Given the description of an element on the screen output the (x, y) to click on. 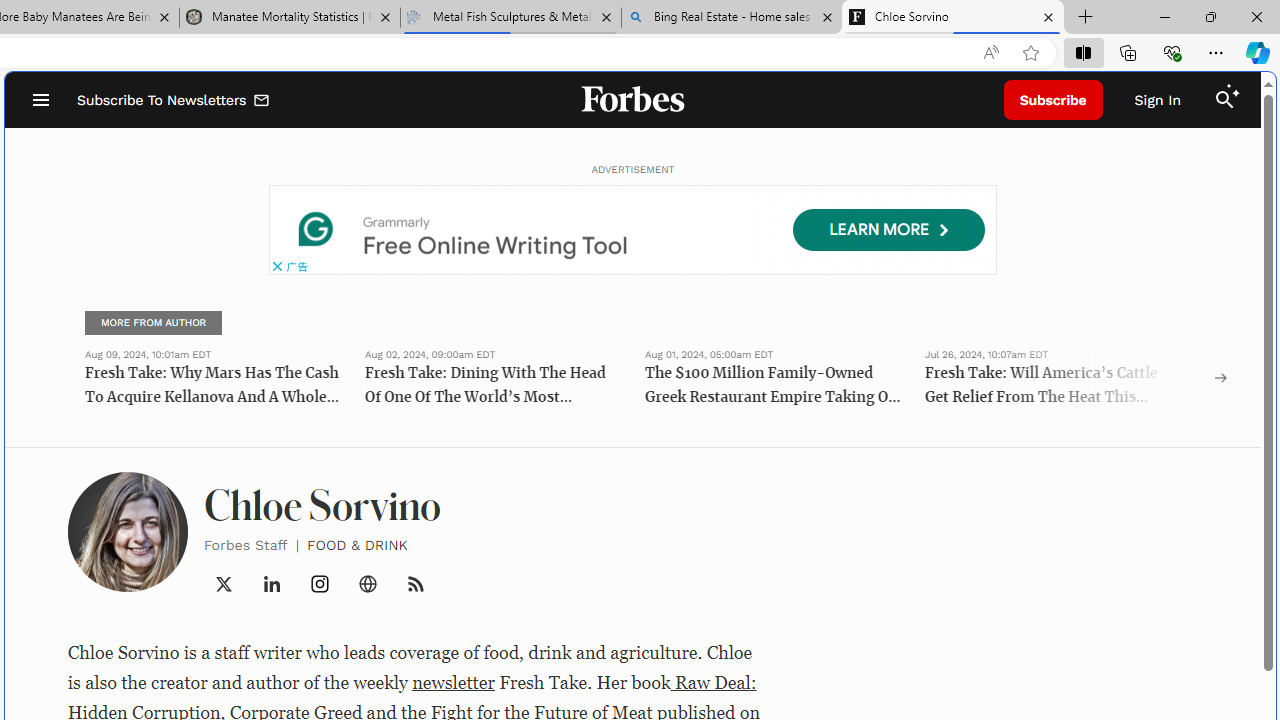
newsletter (453, 681)
Subscribe To Newsletters (173, 99)
